Given the description of an element on the screen output the (x, y) to click on. 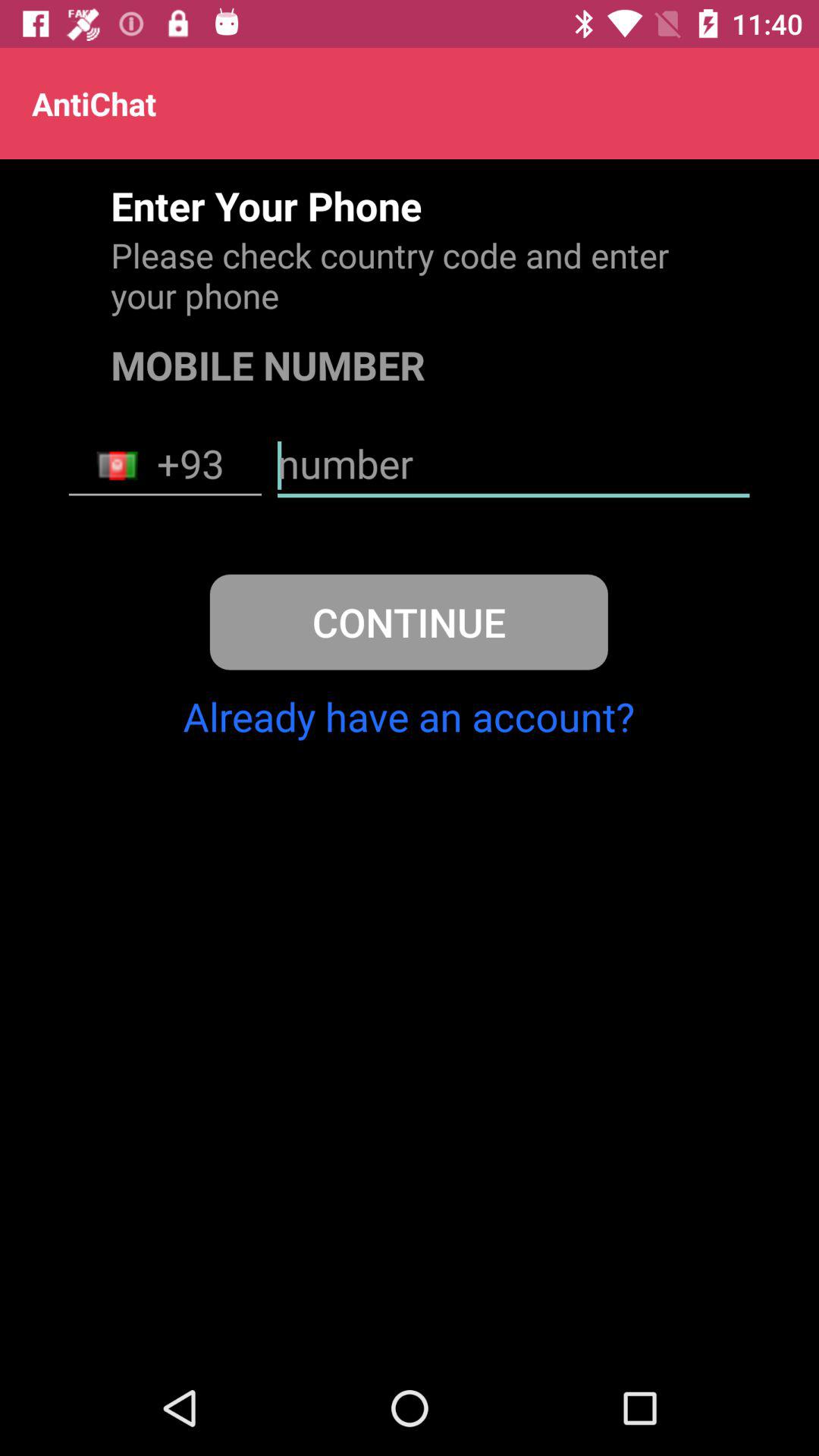
choose item above the already have an item (408, 621)
